Given the description of an element on the screen output the (x, y) to click on. 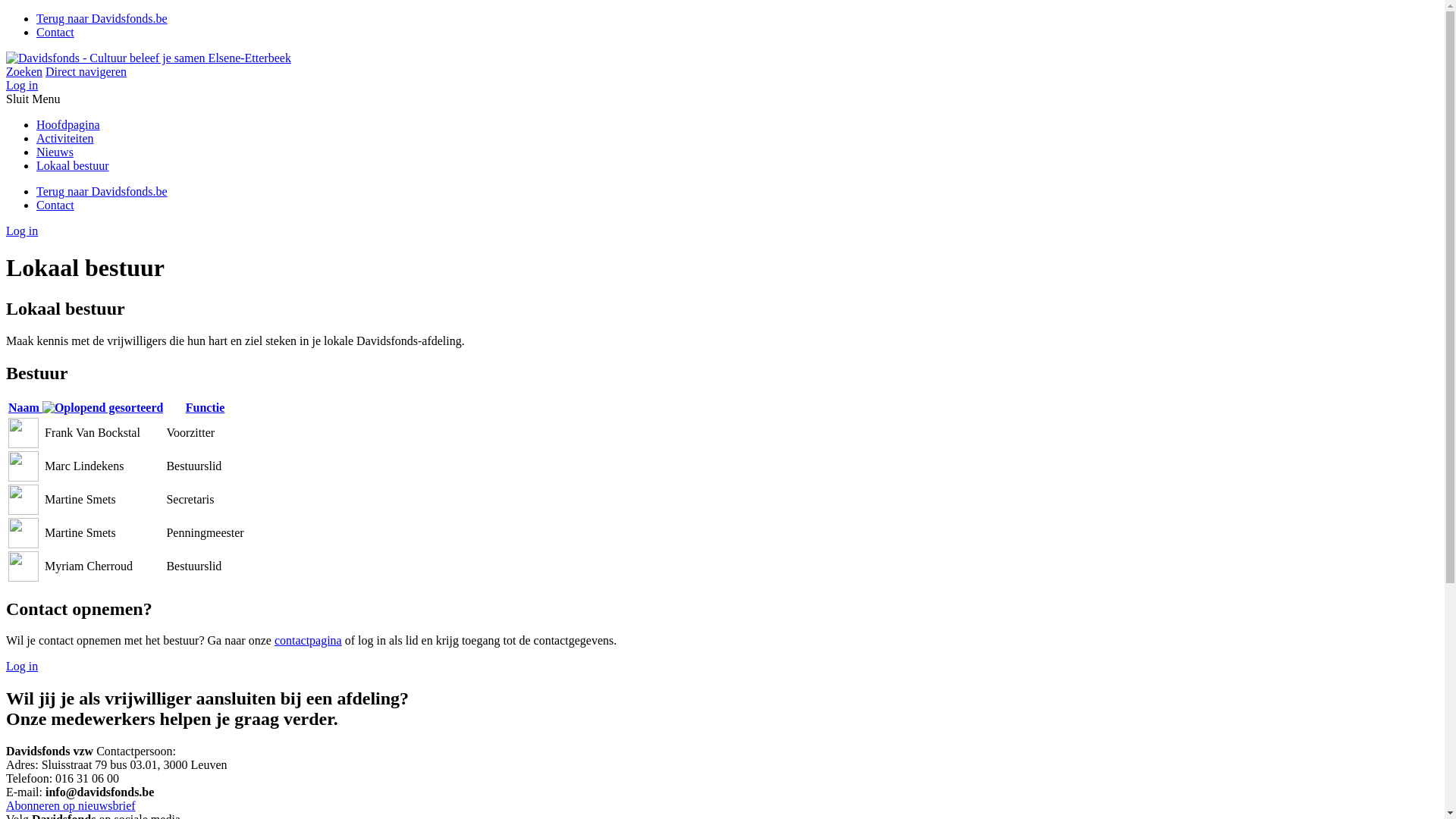
Direct navigeren Element type: text (85, 71)
Elsene-Etterbeek Element type: text (148, 57)
Terug naar Davidsfonds.be Element type: text (101, 191)
Nieuws Element type: text (54, 151)
contactpagina Element type: text (308, 639)
Functie Element type: text (205, 407)
Oplopend gesorteerd Element type: hover (102, 407)
Naam Element type: text (85, 407)
Contact Element type: text (55, 31)
Activiteiten Element type: text (65, 137)
Abonneren op nieuwsbrief Element type: text (70, 805)
Log in Element type: text (21, 230)
Contact Element type: text (55, 204)
Log in Element type: text (21, 665)
Hoofdpagina Element type: text (68, 124)
Terug naar Davidsfonds.be Element type: text (101, 18)
Lokaal bestuur Element type: text (72, 165)
Zoeken Element type: text (24, 71)
Log in Element type: text (21, 84)
